Given the description of an element on the screen output the (x, y) to click on. 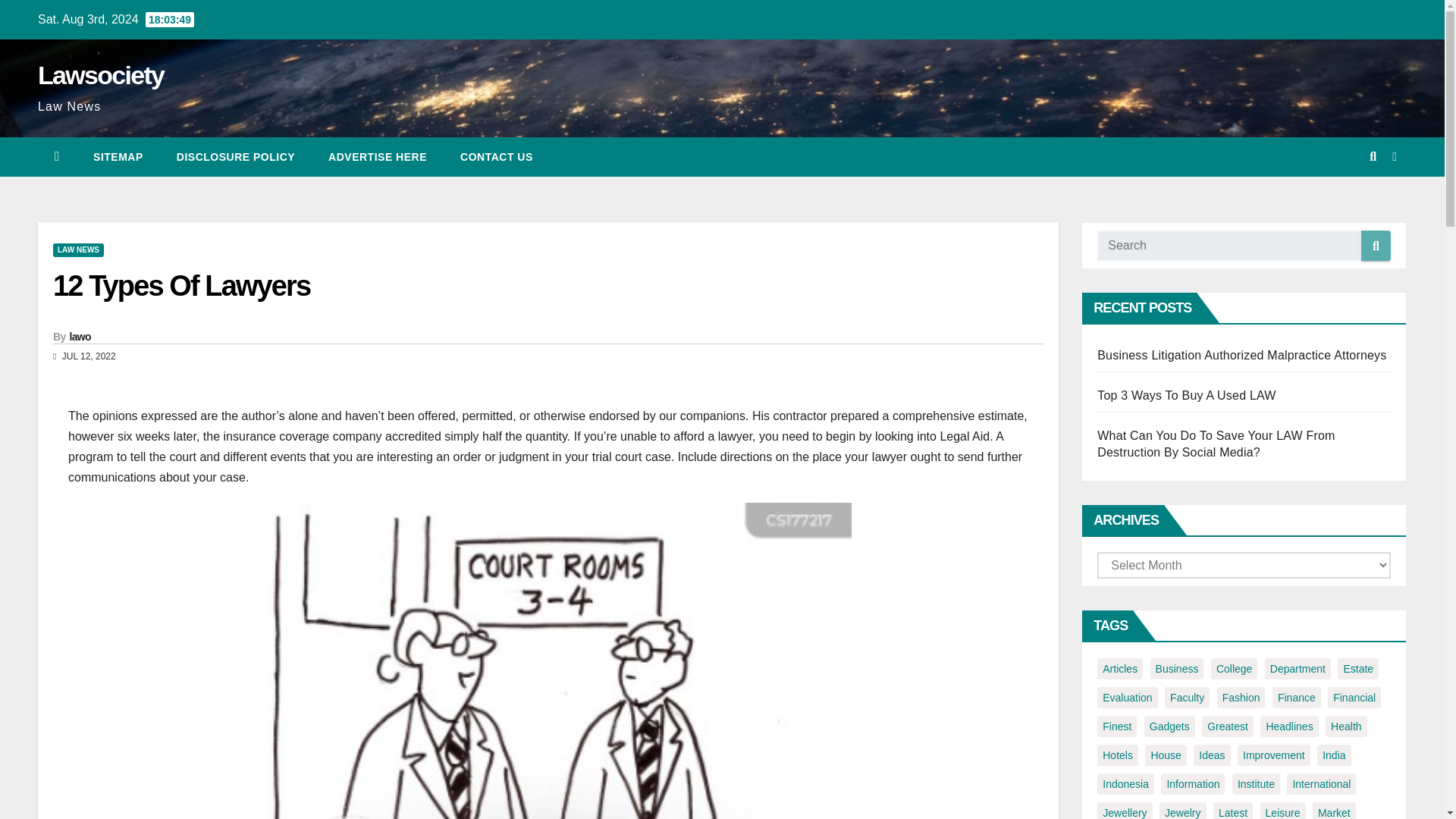
Disclosure Policy (235, 156)
Lawsociety (100, 74)
Sitemap (118, 156)
12 Types Of Lawyers (181, 286)
ADVERTISE HERE (377, 156)
DISCLOSURE POLICY (235, 156)
lawo (79, 336)
Contact Us (497, 156)
SITEMAP (118, 156)
CONTACT US (497, 156)
